Given the description of an element on the screen output the (x, y) to click on. 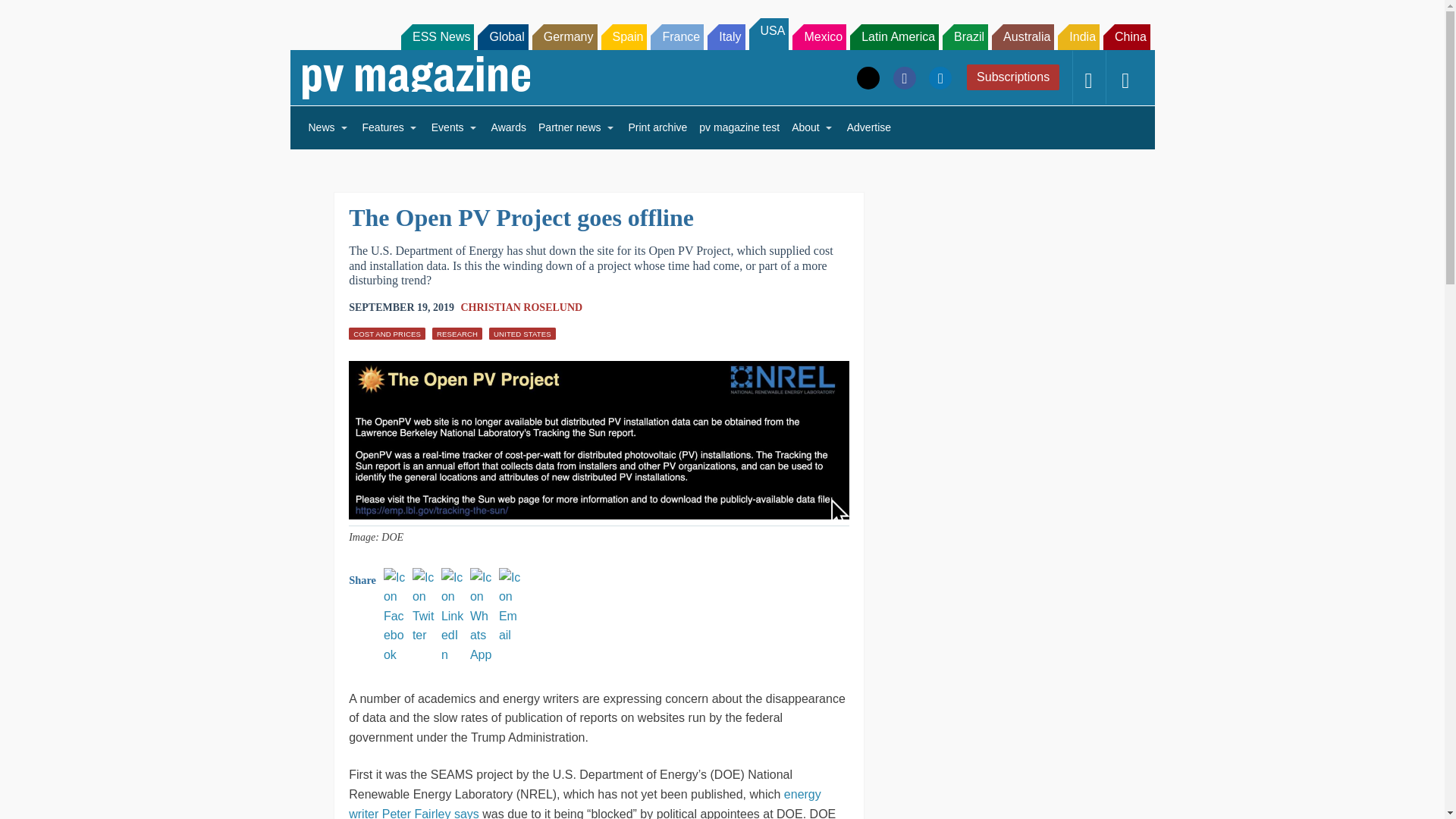
Latin America (894, 36)
Mexico (818, 36)
India (1078, 36)
Brazil (965, 36)
Global (502, 36)
USA (769, 33)
Spain (622, 36)
Australia (1022, 36)
Subscriptions (1012, 77)
Italy (725, 36)
